Given the description of an element on the screen output the (x, y) to click on. 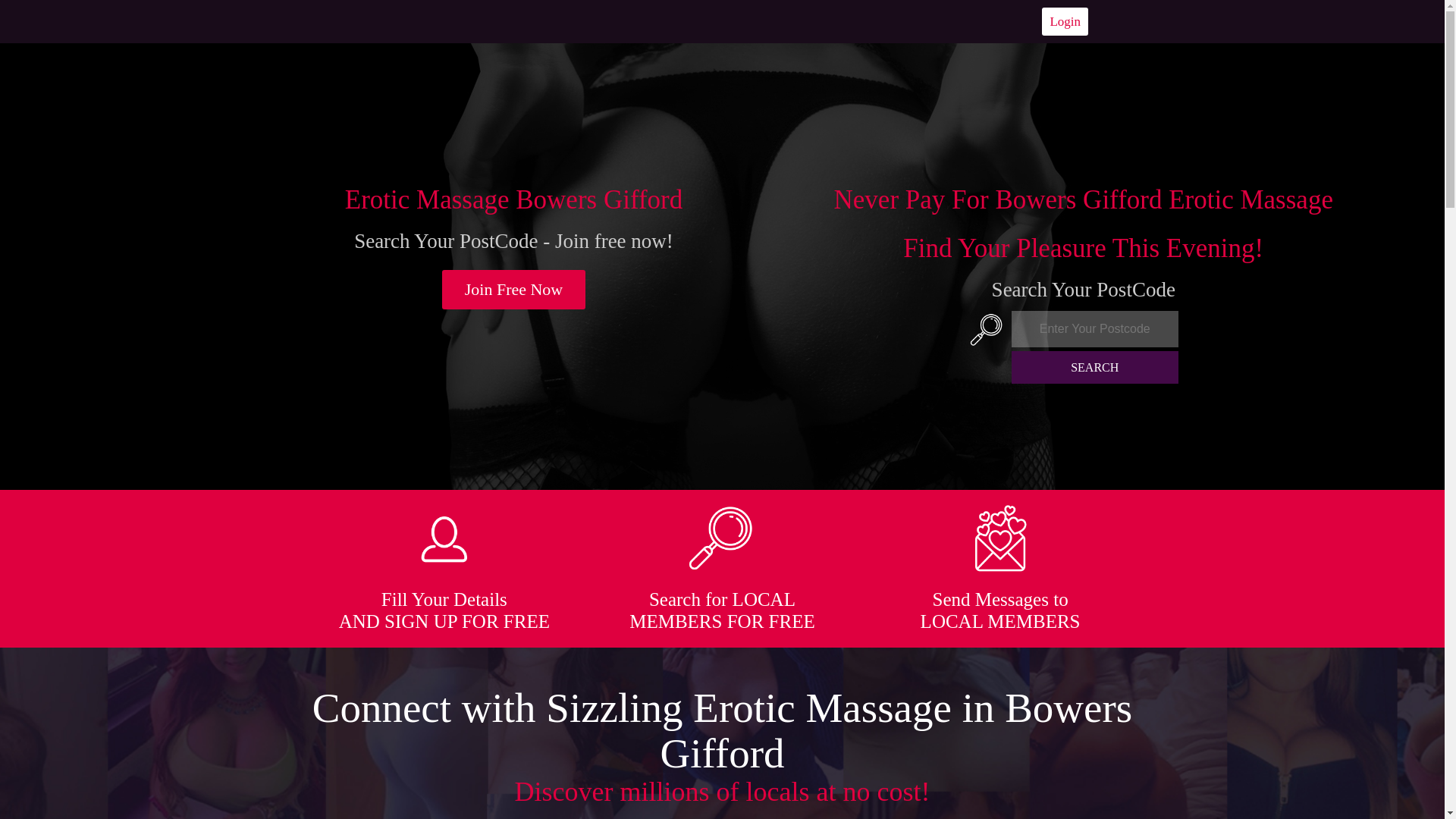
SEARCH (1094, 367)
Login (1064, 21)
Join (514, 289)
Login (1064, 21)
Join Free Now (514, 289)
